Given the description of an element on the screen output the (x, y) to click on. 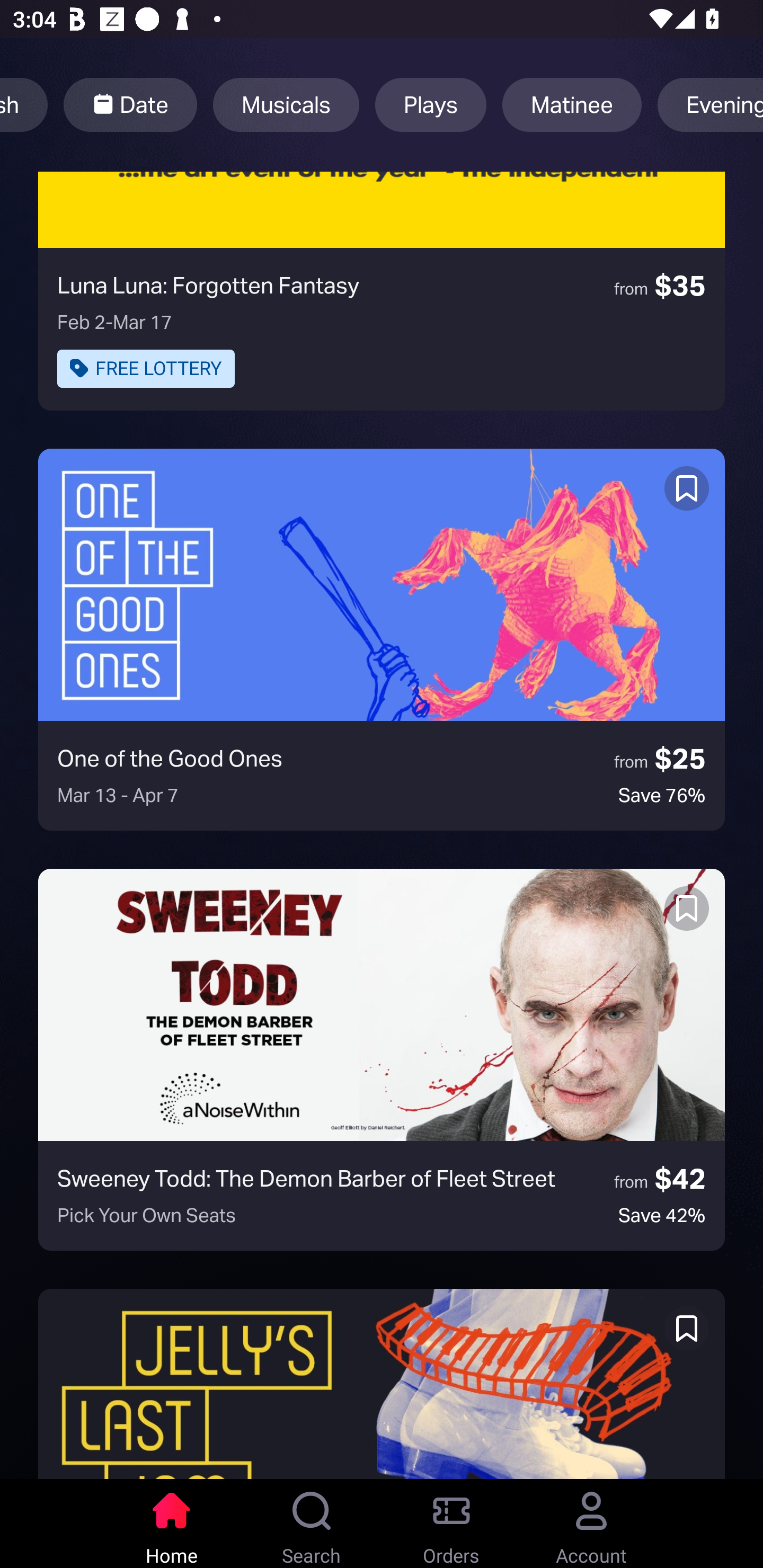
Date (129, 104)
Musicals (285, 104)
Plays (430, 104)
Matinee (571, 104)
Search (311, 1523)
Orders (451, 1523)
Account (591, 1523)
